Given the description of an element on the screen output the (x, y) to click on. 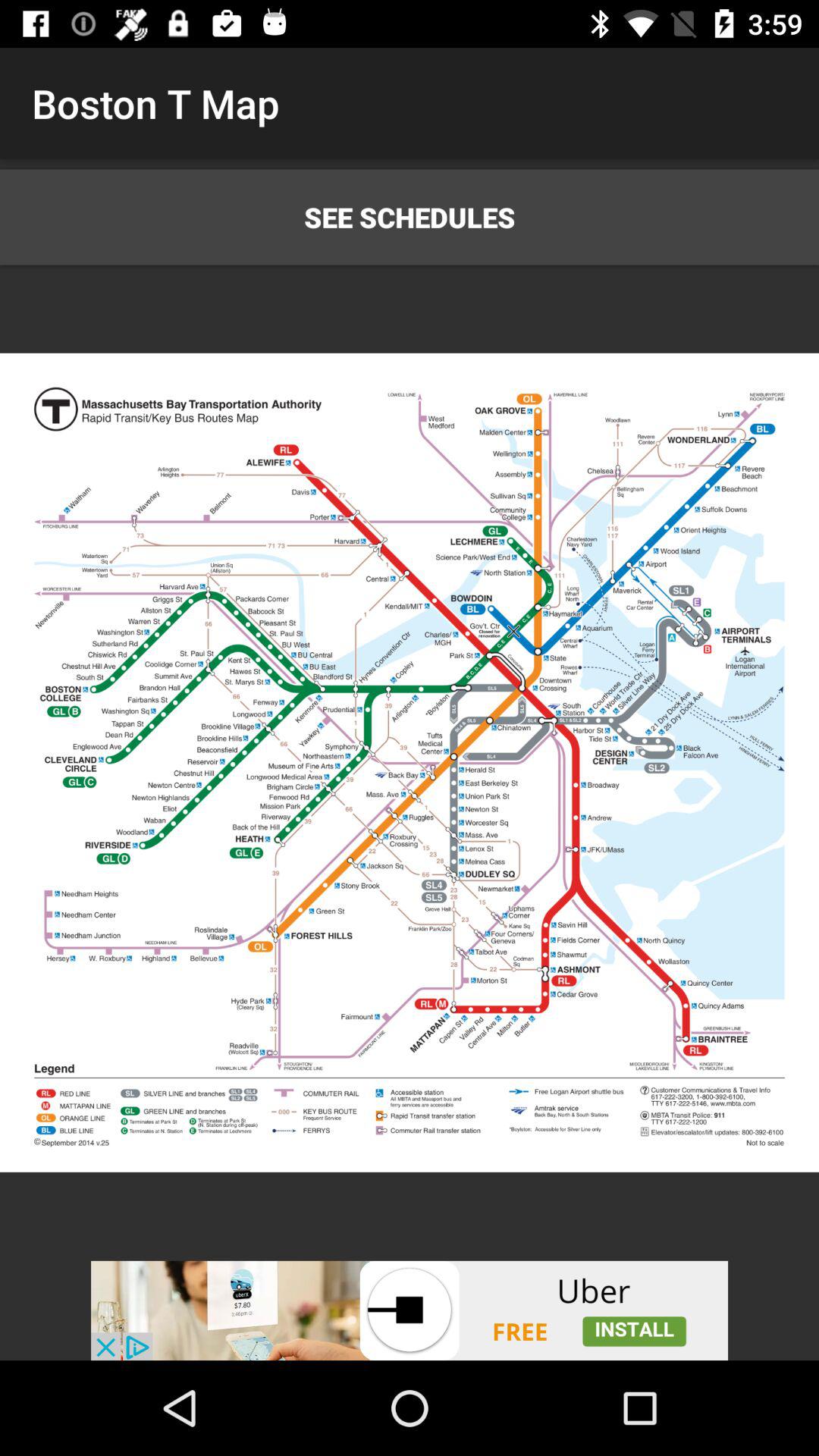
go to advertiser site (409, 1310)
